Given the description of an element on the screen output the (x, y) to click on. 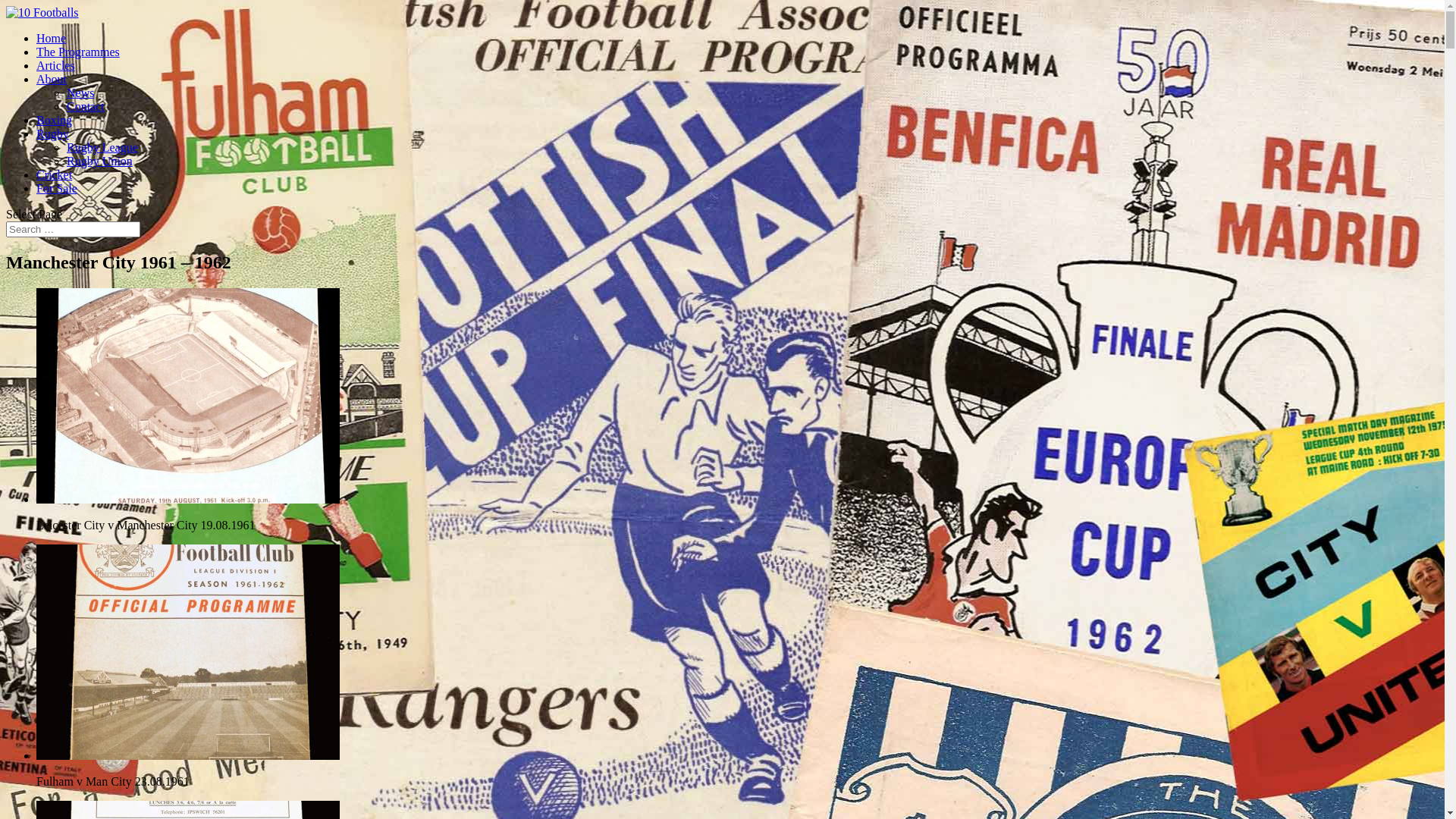
Rugby League Element type: text (102, 147)
Boxing Element type: text (54, 119)
Leicester City v Manchester City 19.08.1961 Element type: hover (187, 498)
About Element type: text (51, 78)
Rugby Element type: text (52, 133)
Rugby Union Element type: text (99, 160)
Search for: Element type: hover (73, 229)
Contact Element type: text (85, 106)
The Programmes Element type: text (77, 51)
Home Element type: text (50, 37)
Cricket Element type: text (54, 174)
News Element type: text (80, 92)
For Sale Element type: text (56, 188)
Fulham v Man City 23.08.1961 Element type: hover (187, 755)
Articles Element type: text (55, 65)
